Given the description of an element on the screen output the (x, y) to click on. 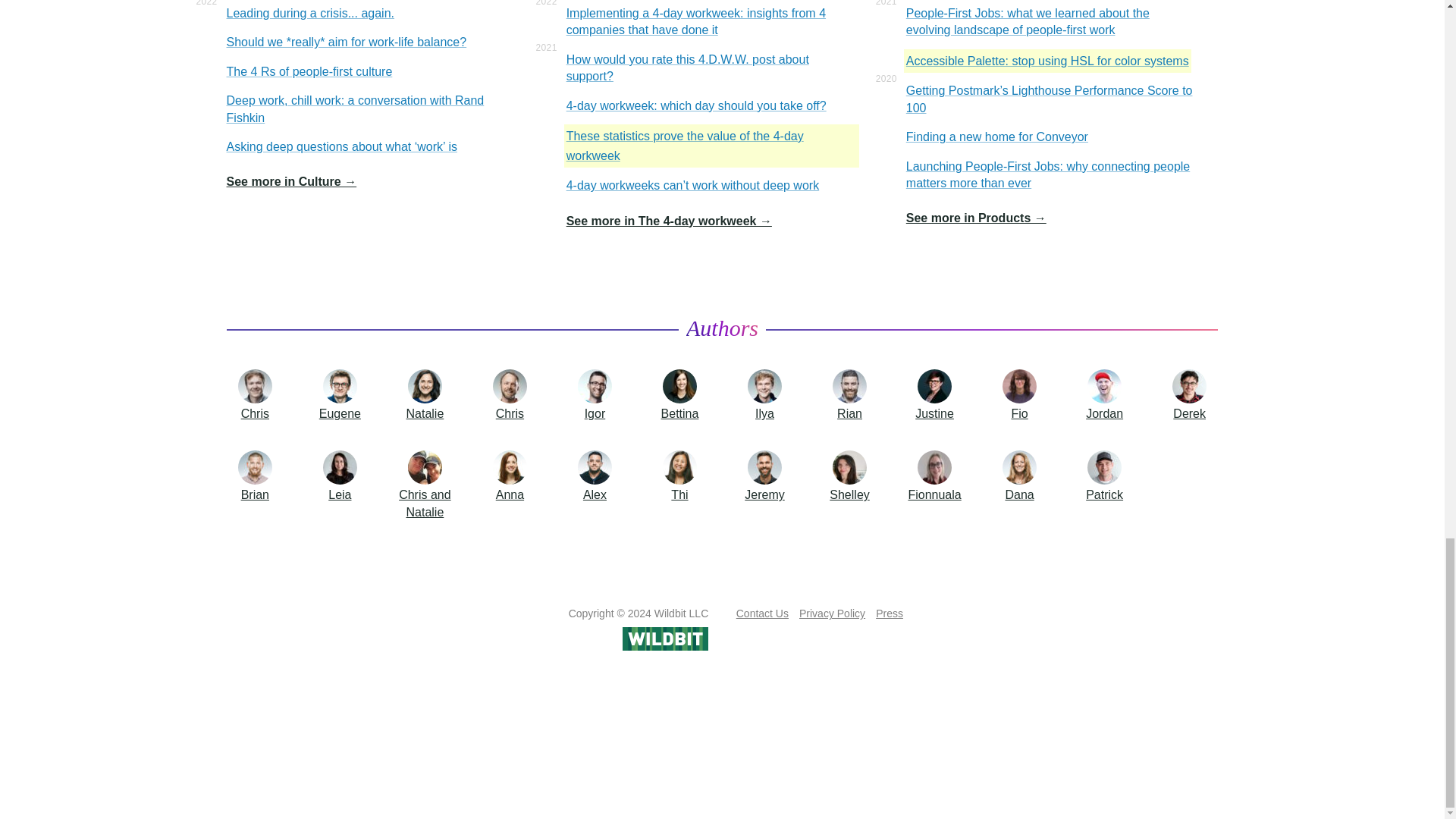
Deep work, chill work: a conversation with Rand Fishkin (372, 109)
4-day workweek: which day should you take off? (696, 105)
Leading during a crisis... again. (310, 13)
How would you rate this 4.D.W.W. post about support? (711, 68)
The 4 Rs of people-first culture (310, 71)
